Given the description of an element on the screen output the (x, y) to click on. 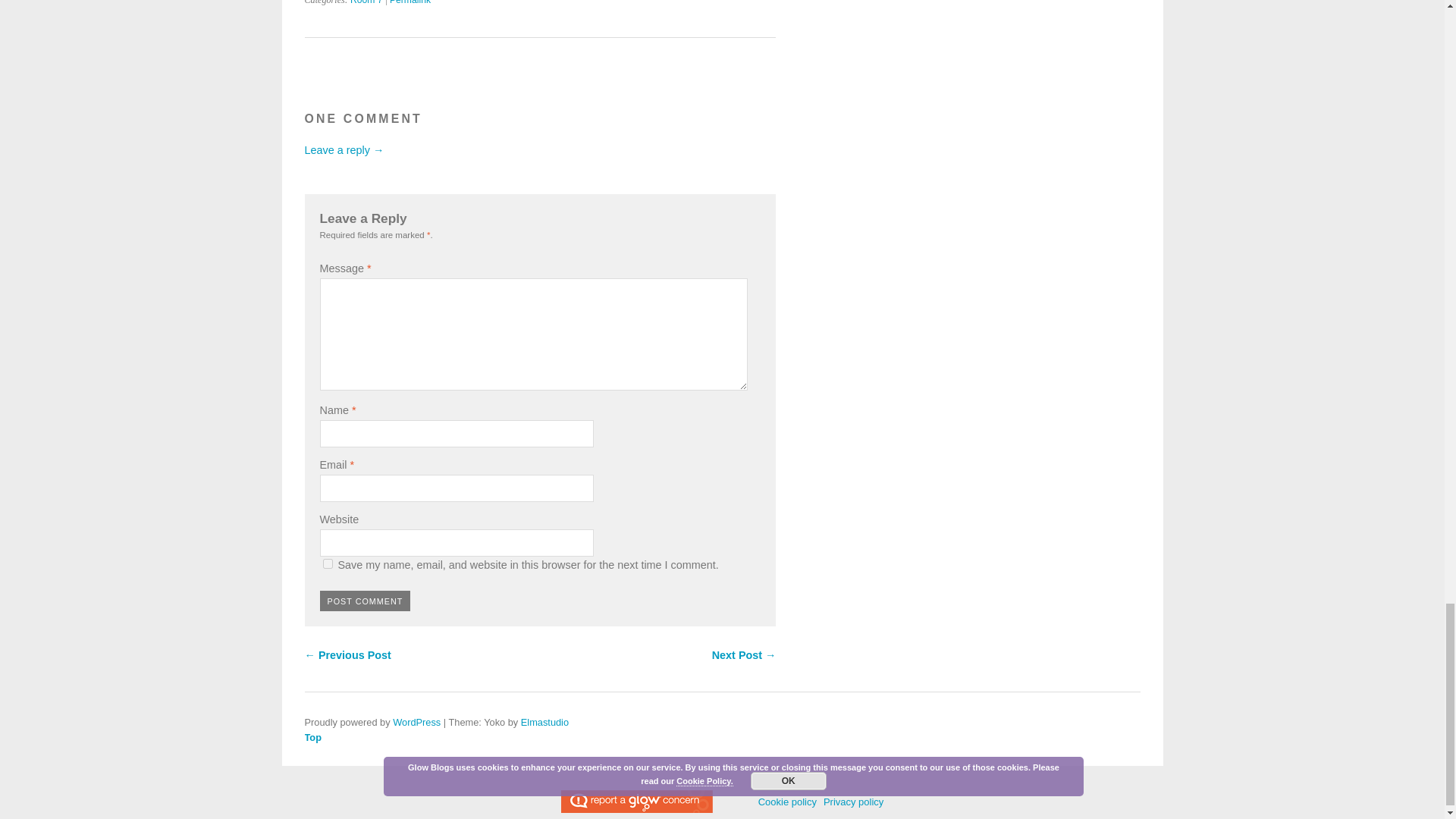
yes (328, 563)
Permalink (410, 2)
Room 7 (366, 2)
Post Comment (365, 600)
Post Comment (365, 600)
